Given the description of an element on the screen output the (x, y) to click on. 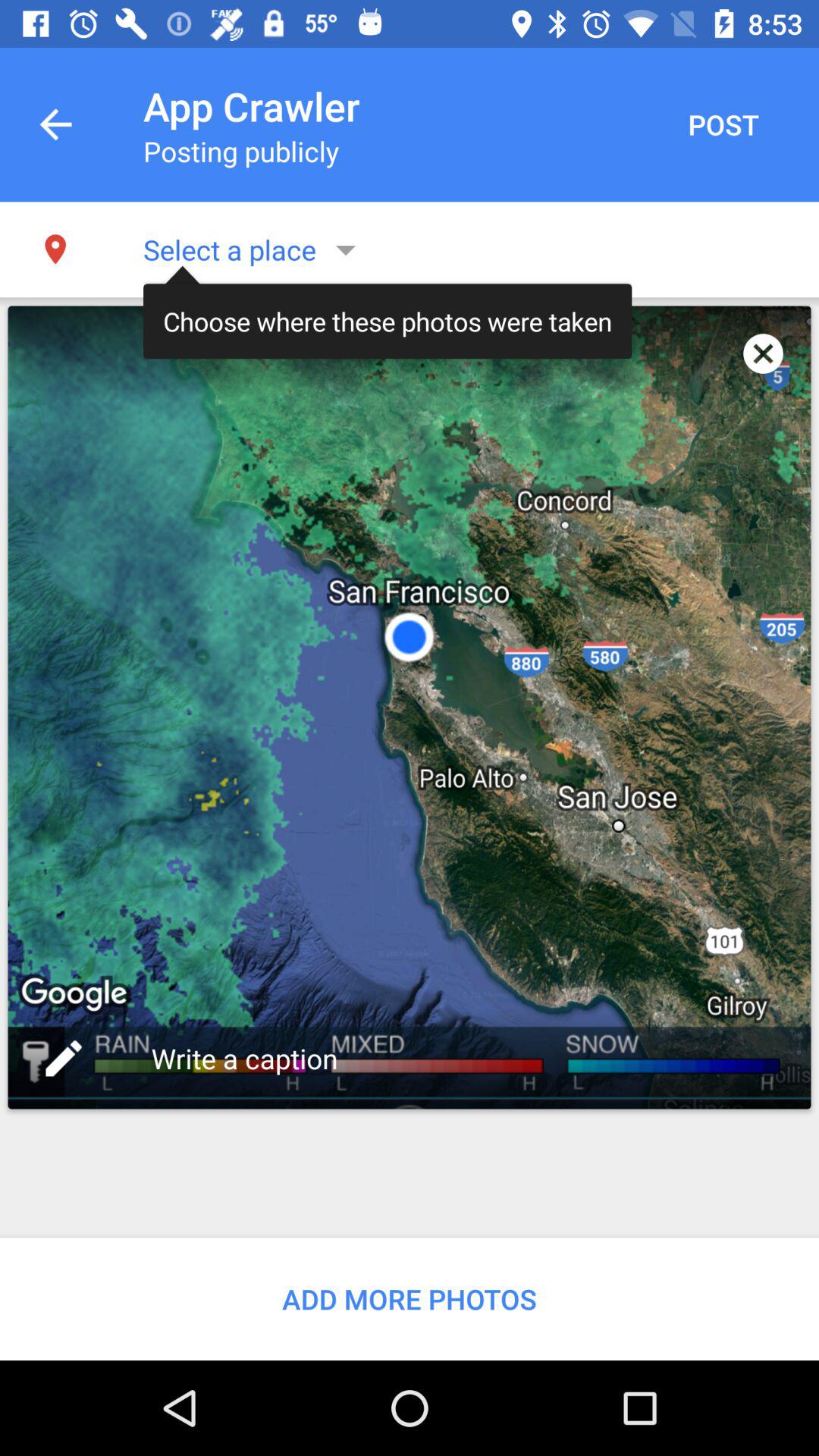
turn on add more photos app (409, 1298)
